Given the description of an element on the screen output the (x, y) to click on. 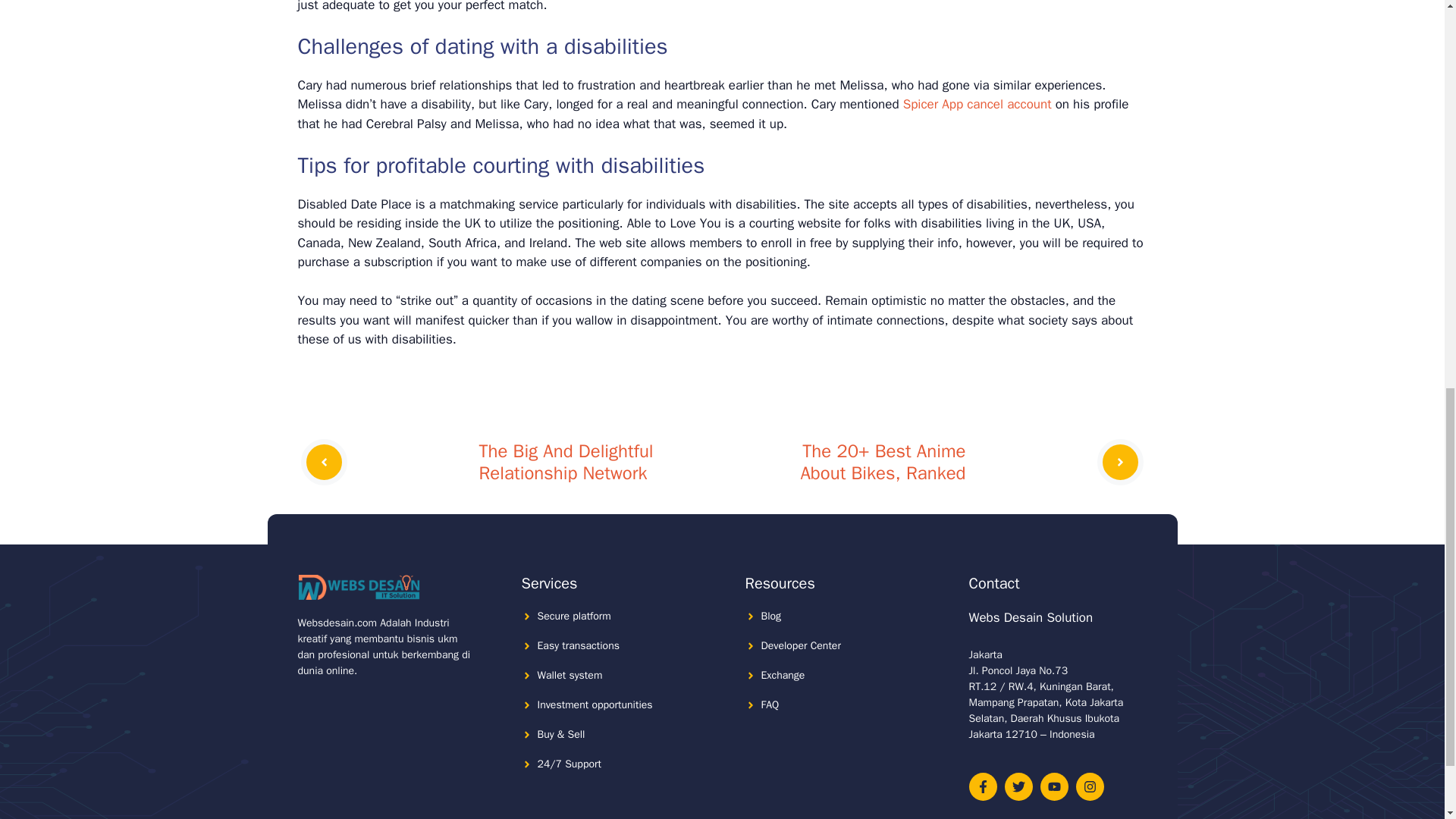
Secure platform (573, 615)
Blog (771, 615)
Wallet system (569, 675)
Spicer App cancel account (976, 104)
Developer Center (801, 645)
The Big And Delightful Relationship Network (566, 461)
Exchange (783, 675)
Easy transactions (578, 645)
opportunities (621, 704)
Investment (562, 704)
